Given the description of an element on the screen output the (x, y) to click on. 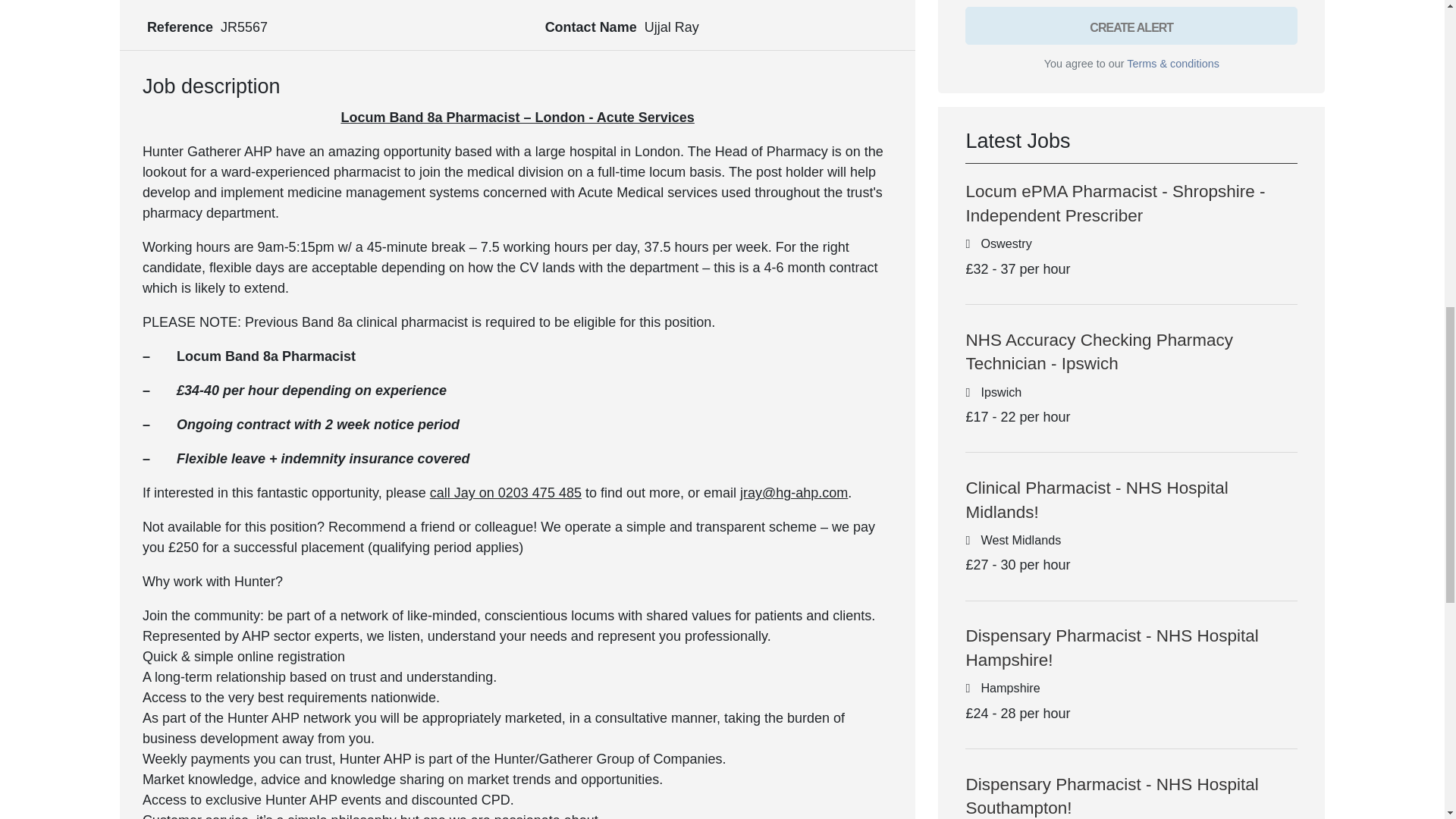
Dispensary Pharmacist - NHS Hospital Southampton! (1111, 796)
Clinical Pharmacist - NHS Hospital Midlands! (1096, 499)
Dispensary Pharmacist - NHS Hospital Hampshire! (1111, 647)
CREATE ALERT (1131, 25)
Locum ePMA Pharmacist - Shropshire - Independent Prescriber (1115, 203)
NHS Accuracy Checking Pharmacy Technician - Ipswich (1099, 351)
